Given the description of an element on the screen output the (x, y) to click on. 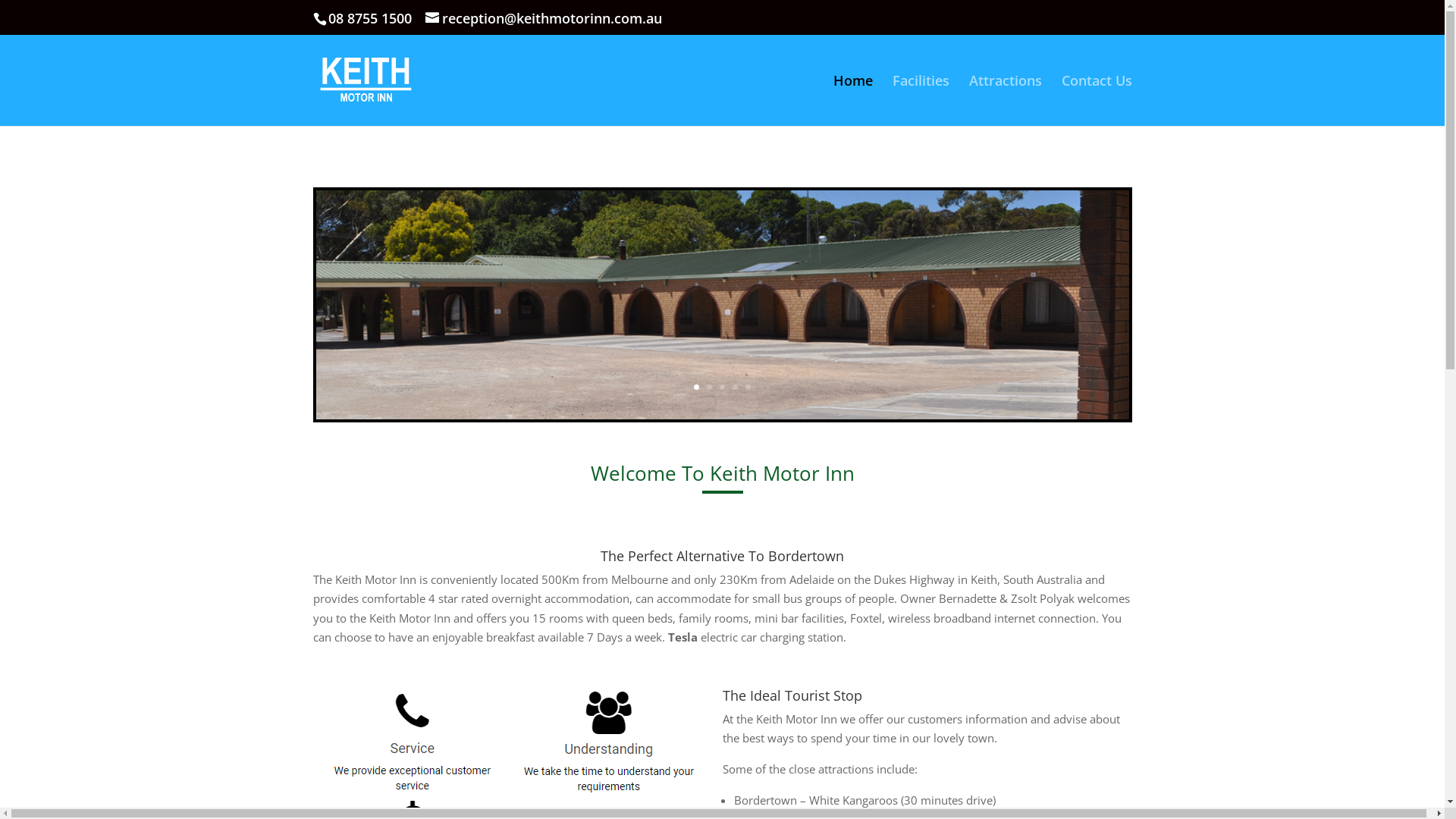
Home Element type: text (852, 100)
Attractions Element type: text (1005, 100)
3 Element type: text (721, 386)
1 Element type: text (696, 386)
2 Element type: text (709, 386)
Contact Us Element type: text (1096, 100)
reception@keithmotorinn.com.au Element type: text (542, 18)
4 Element type: text (734, 386)
Facilities Element type: text (919, 100)
5 Element type: text (747, 386)
